Given the description of an element on the screen output the (x, y) to click on. 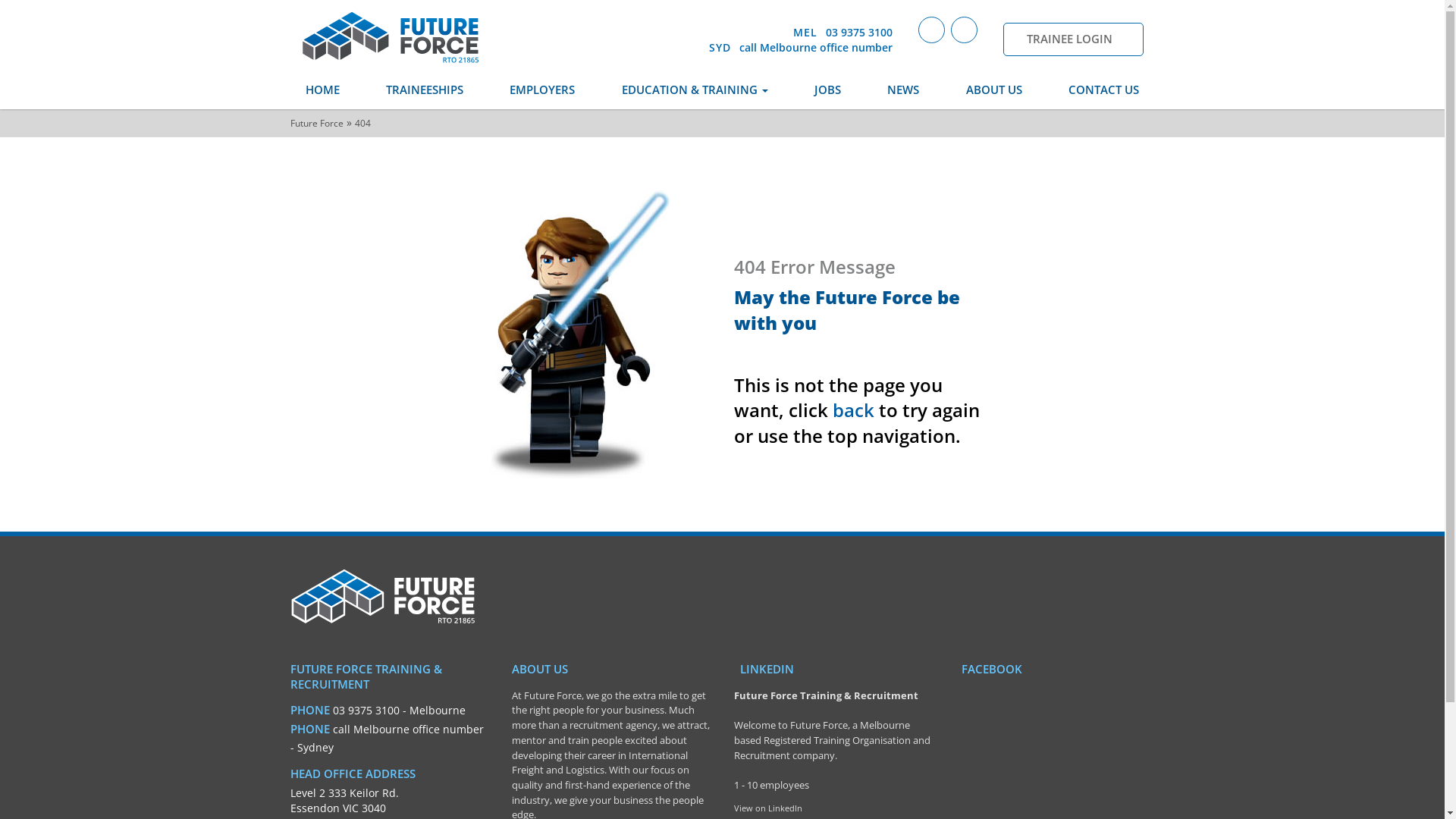
CONTACT US Element type: text (1093, 90)
View on LinkedIn Element type: text (768, 807)
03 9375 3100 Element type: text (365, 709)
TRAINEESHIPS Element type: text (424, 90)
back Element type: text (853, 409)
JOBS Element type: text (827, 90)
03 9375 3100 Element type: text (858, 32)
EMPLOYERS Element type: text (542, 90)
call Melbourne office number Element type: text (407, 728)
Future Force Element type: text (315, 122)
Future Force Element type: hover (390, 39)
HOME Element type: text (332, 90)
TRAINEE LOGIN Element type: text (1072, 39)
NEWS Element type: text (903, 90)
call Melbourne office number Element type: text (814, 47)
ABOUT US Element type: text (993, 90)
EDUCATION & TRAINING Element type: text (694, 90)
